Given the description of an element on the screen output the (x, y) to click on. 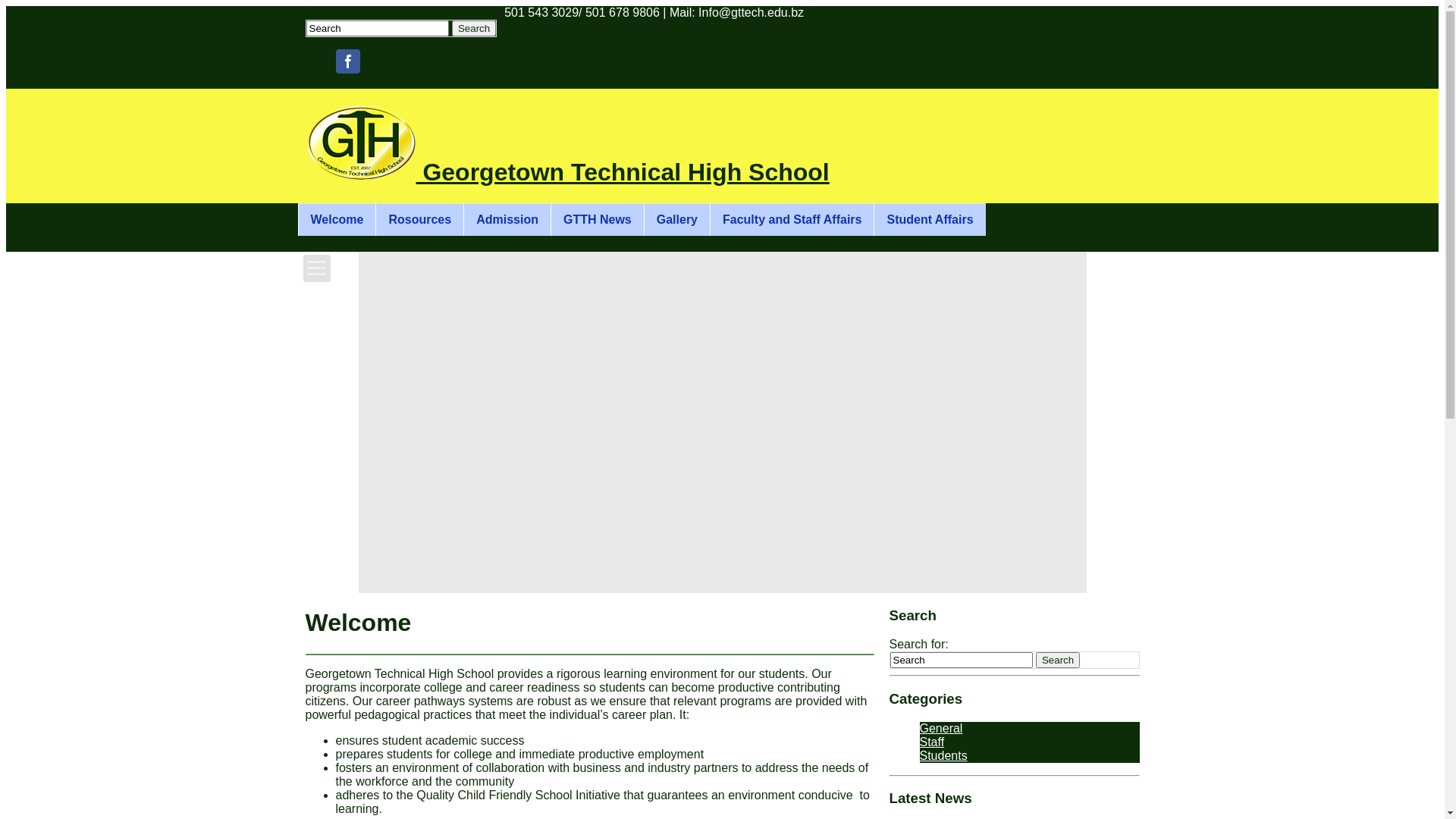
Faculty and Staff Affairs Element type: text (791, 219)
Facebook Element type: hover (347, 61)
Georgetown Technical High School Element type: text (566, 145)
Admission Element type: text (506, 219)
Search Element type: text (1057, 660)
Gallery Element type: text (676, 219)
Search Element type: text (473, 28)
Open Menu Element type: text (316, 268)
Welcome Element type: text (336, 219)
Student Affairs Element type: text (929, 219)
Rosources Element type: text (419, 219)
GTTH News Element type: text (596, 219)
General Element type: text (940, 727)
Students Element type: text (942, 755)
Staff Element type: text (931, 741)
